Given the description of an element on the screen output the (x, y) to click on. 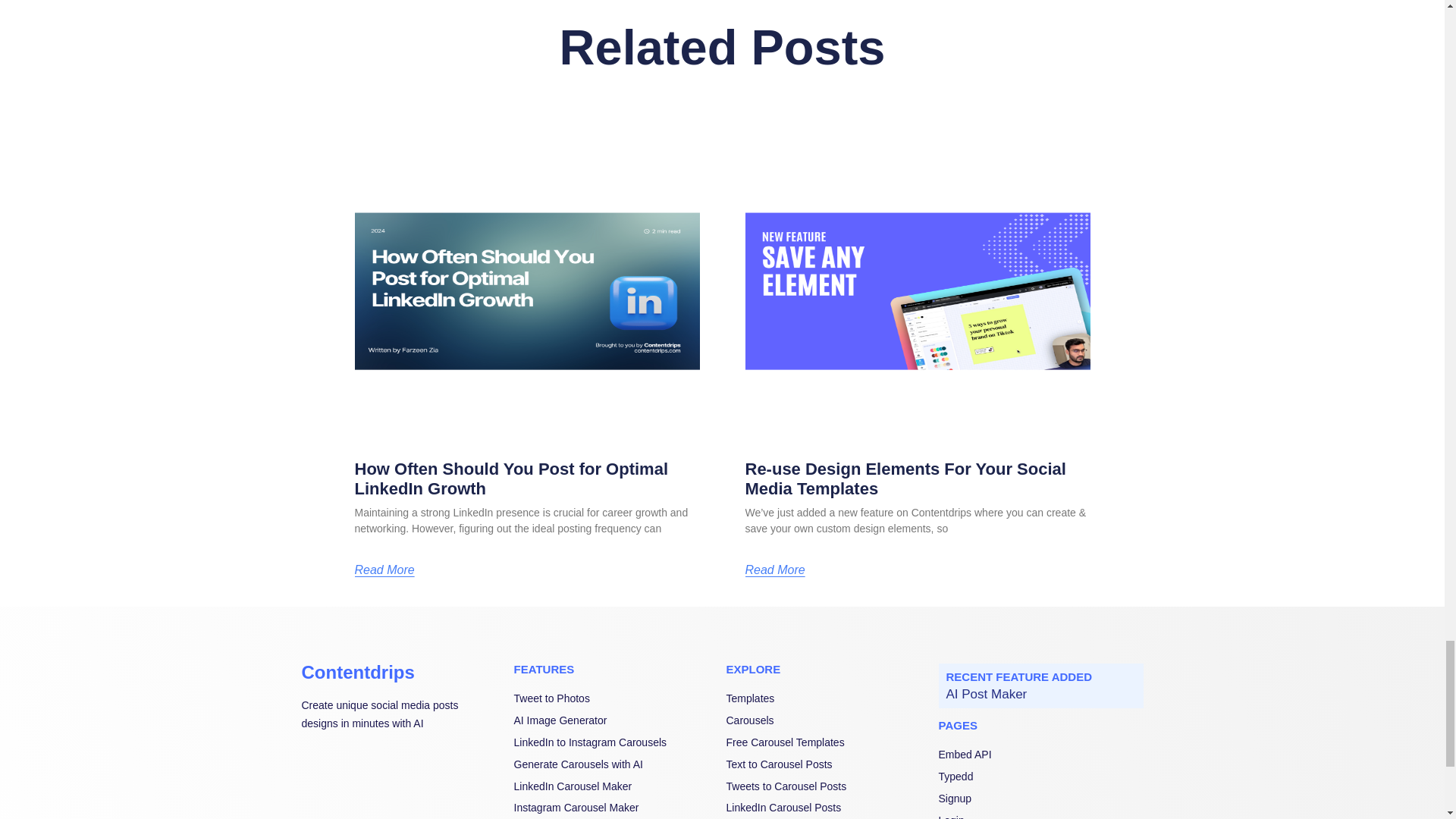
Generate Carousels with AI (616, 764)
Tweet to Photos (616, 699)
LinkedIn to Instagram Carousels (616, 742)
Contentdrips (357, 671)
How Often Should You Post for Optimal LinkedIn Growth (511, 478)
Read More (774, 570)
Templates (828, 699)
Free Carousel Templates (828, 742)
Read More (384, 570)
Re-use Design Elements For Your Social Media Templates (904, 478)
LinkedIn Carousel Maker (616, 787)
Instagram Carousel Maker (616, 808)
AI Image Generator (616, 720)
Carousels (828, 720)
